Given the description of an element on the screen output the (x, y) to click on. 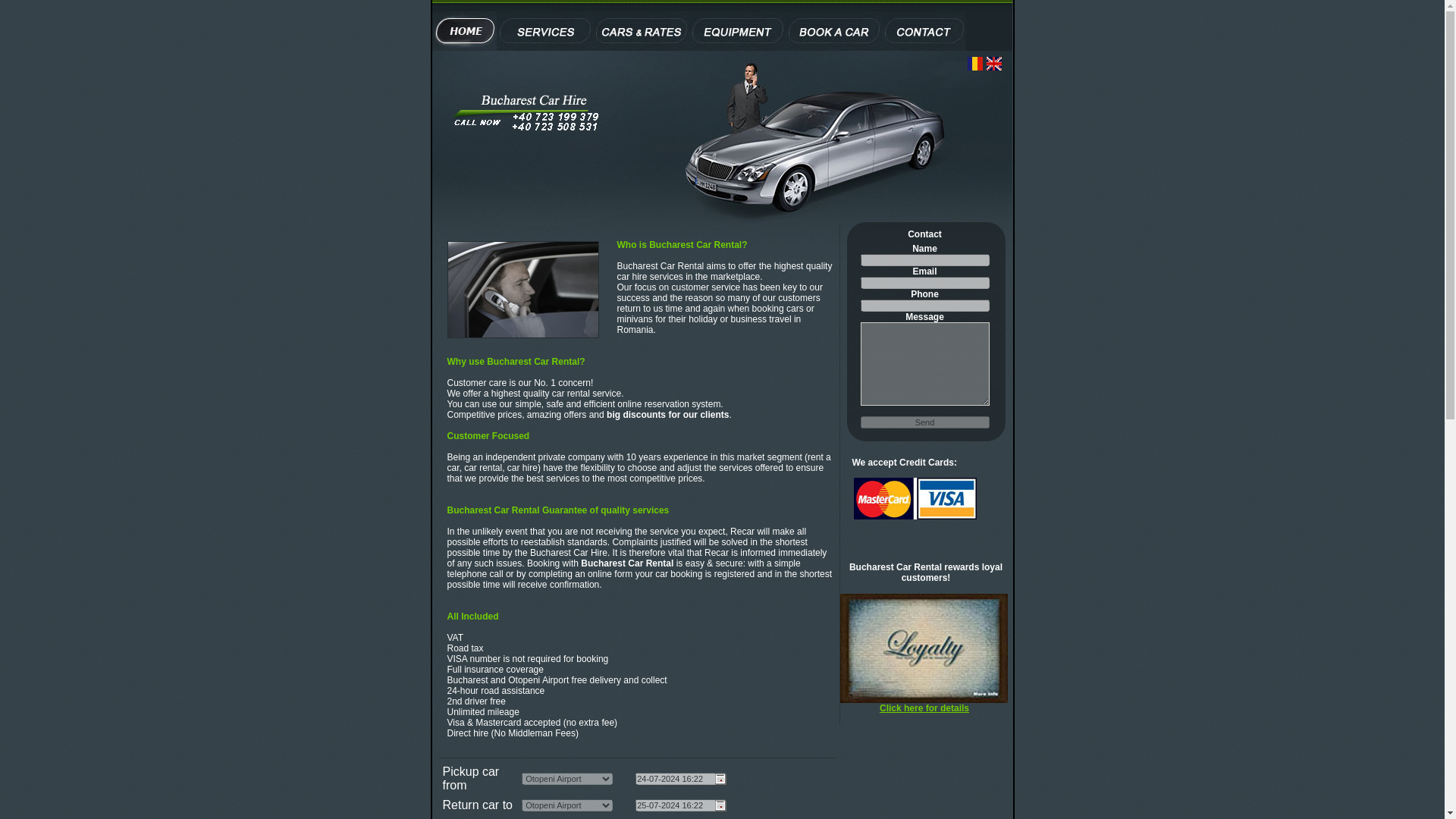
Send (924, 422)
romana (977, 62)
english (994, 62)
Open calendar (720, 778)
25-07-2024 16:22 (680, 805)
romana (977, 62)
details for car rental discount (924, 707)
Open calendar (720, 804)
Send (924, 422)
24-07-2024 16:22 (680, 778)
english (994, 62)
Click here for details (924, 707)
